Given the description of an element on the screen output the (x, y) to click on. 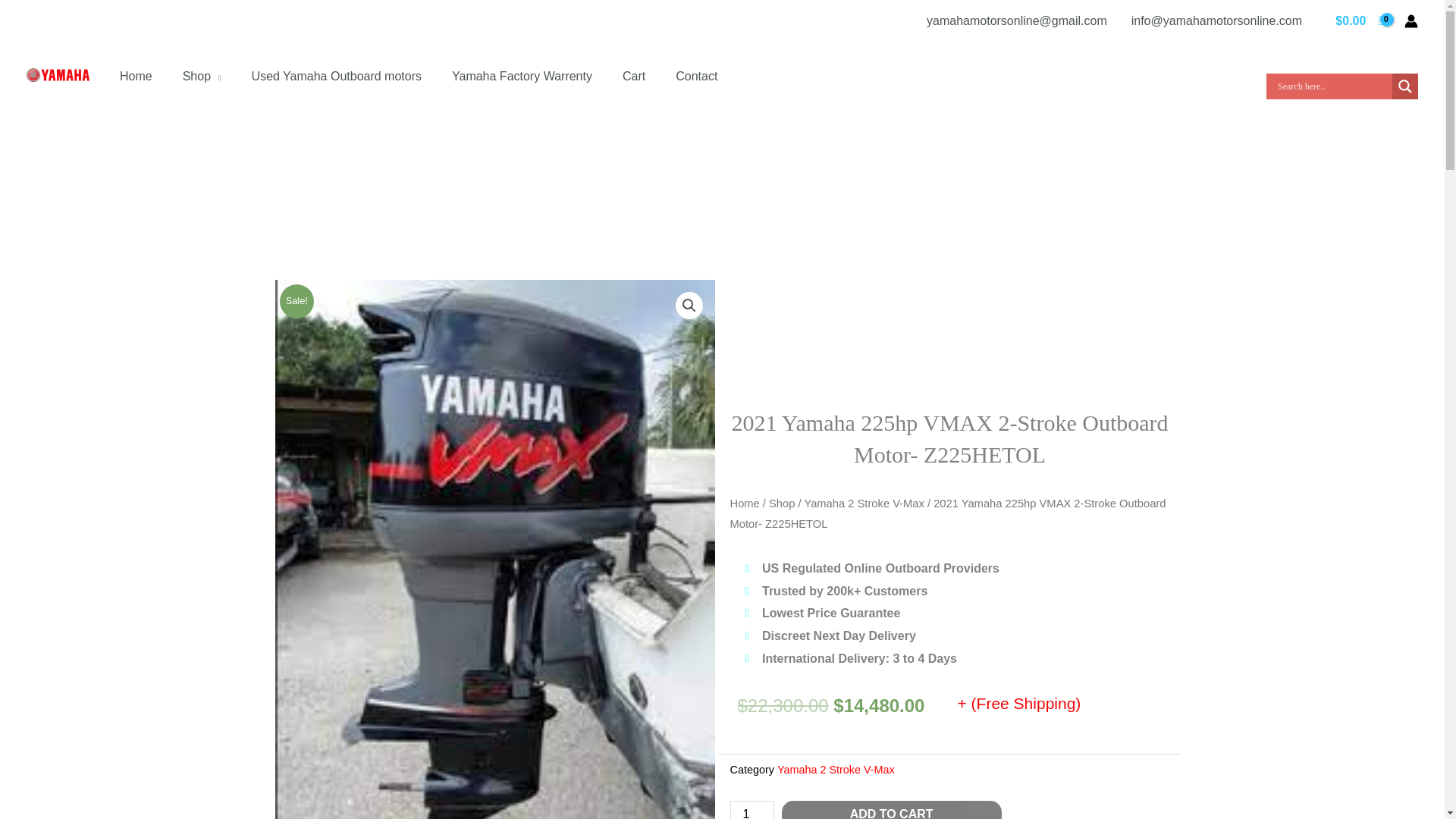
Contact (696, 76)
ADD TO CART (891, 809)
Home (135, 76)
Used Yamaha Outboard motors (335, 76)
Home (743, 503)
Yamaha 2 Stroke V-Max (863, 503)
Cart (634, 76)
Yamaha Factory Warrenty (521, 76)
Shop (781, 503)
1 (751, 809)
Shop (201, 76)
Yamaha 2 Stroke V-Max (836, 769)
